Given the description of an element on the screen output the (x, y) to click on. 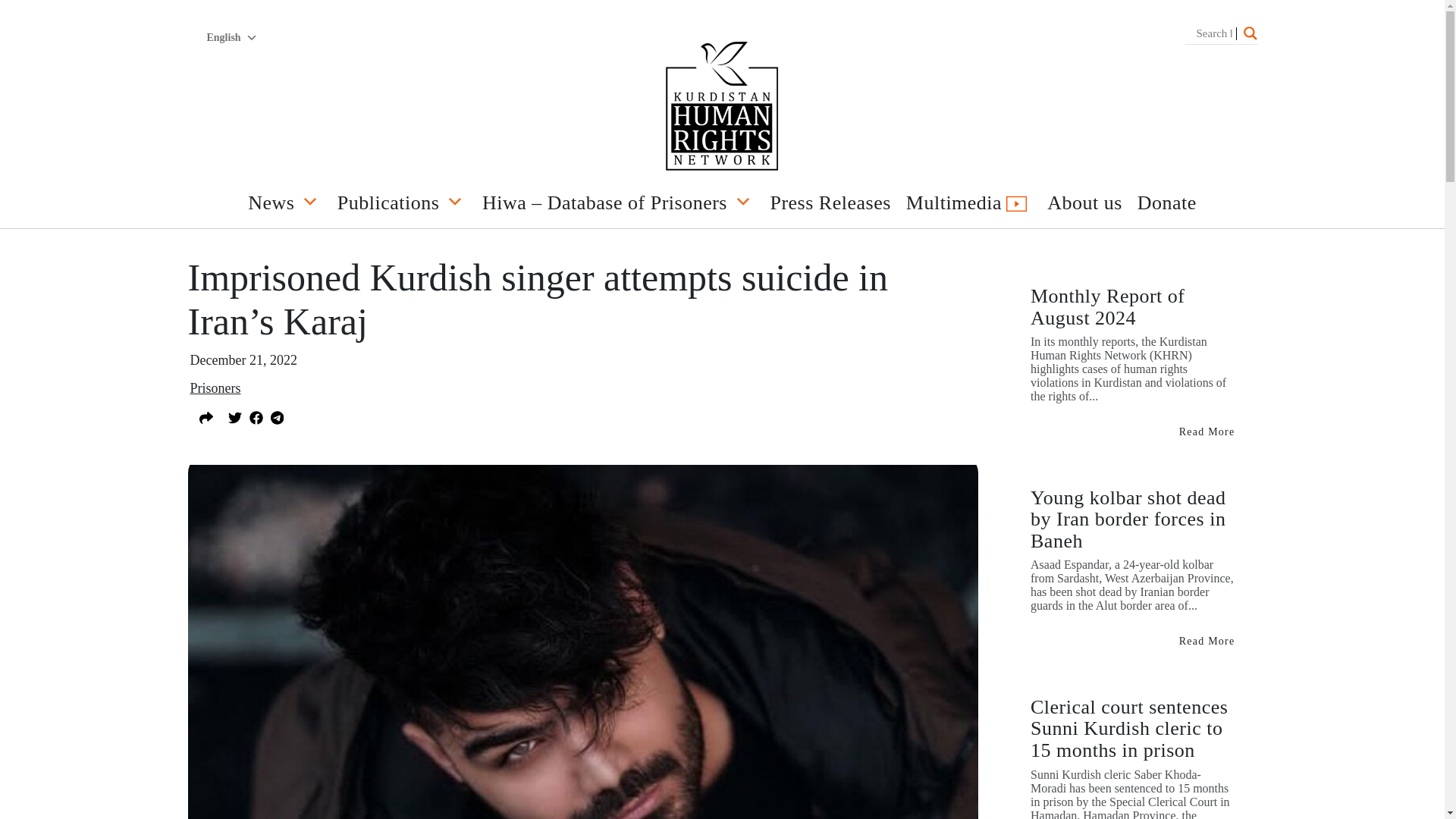
Publications (402, 206)
English (231, 37)
Young kolbar shot dead by Iran border forces in Baneh (1206, 641)
News (285, 206)
Twitter (234, 416)
Monthly Report of August 2024 (1206, 431)
facebook (255, 416)
KHRN (721, 107)
